Given the description of an element on the screen output the (x, y) to click on. 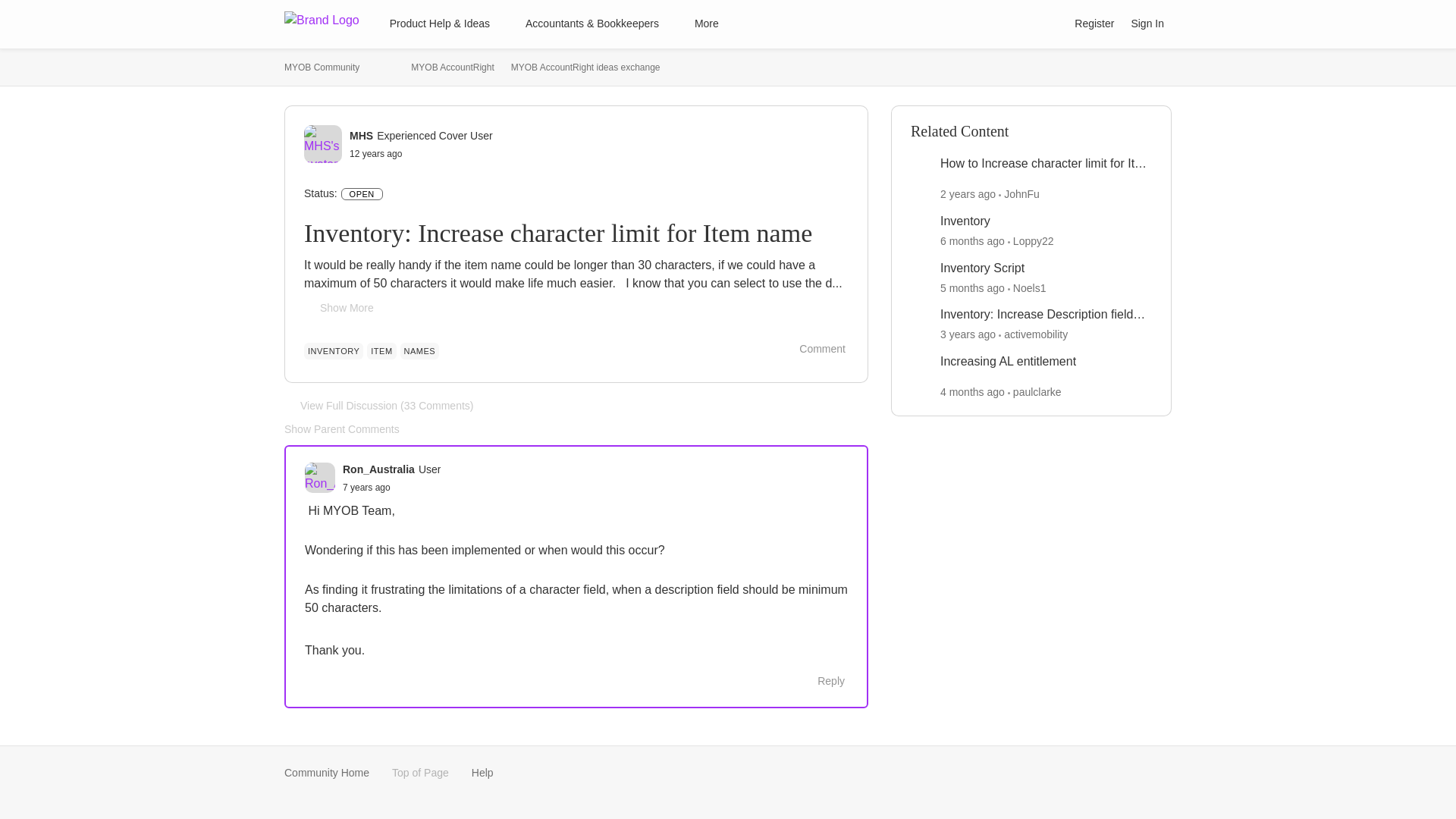
How to Increase character limit for Item name (1045, 163)
Increasing AL entitlement (1007, 361)
INVENTORY (333, 351)
April 22, 2024 at 11:15 PM (972, 391)
JohnFu (1021, 193)
activemobility (1035, 334)
How to Increase character limit for Item name (1045, 163)
March 13, 2024 at 7:28 AM (972, 287)
Noels1 (1029, 287)
Inventory (965, 221)
MYOB AccountRight ideas exchange (586, 66)
December 7, 2017 at 3:43 PM (366, 487)
Increasing AL entitlement (1007, 361)
Inventory (965, 221)
NAMES (419, 351)
